Given the description of an element on the screen output the (x, y) to click on. 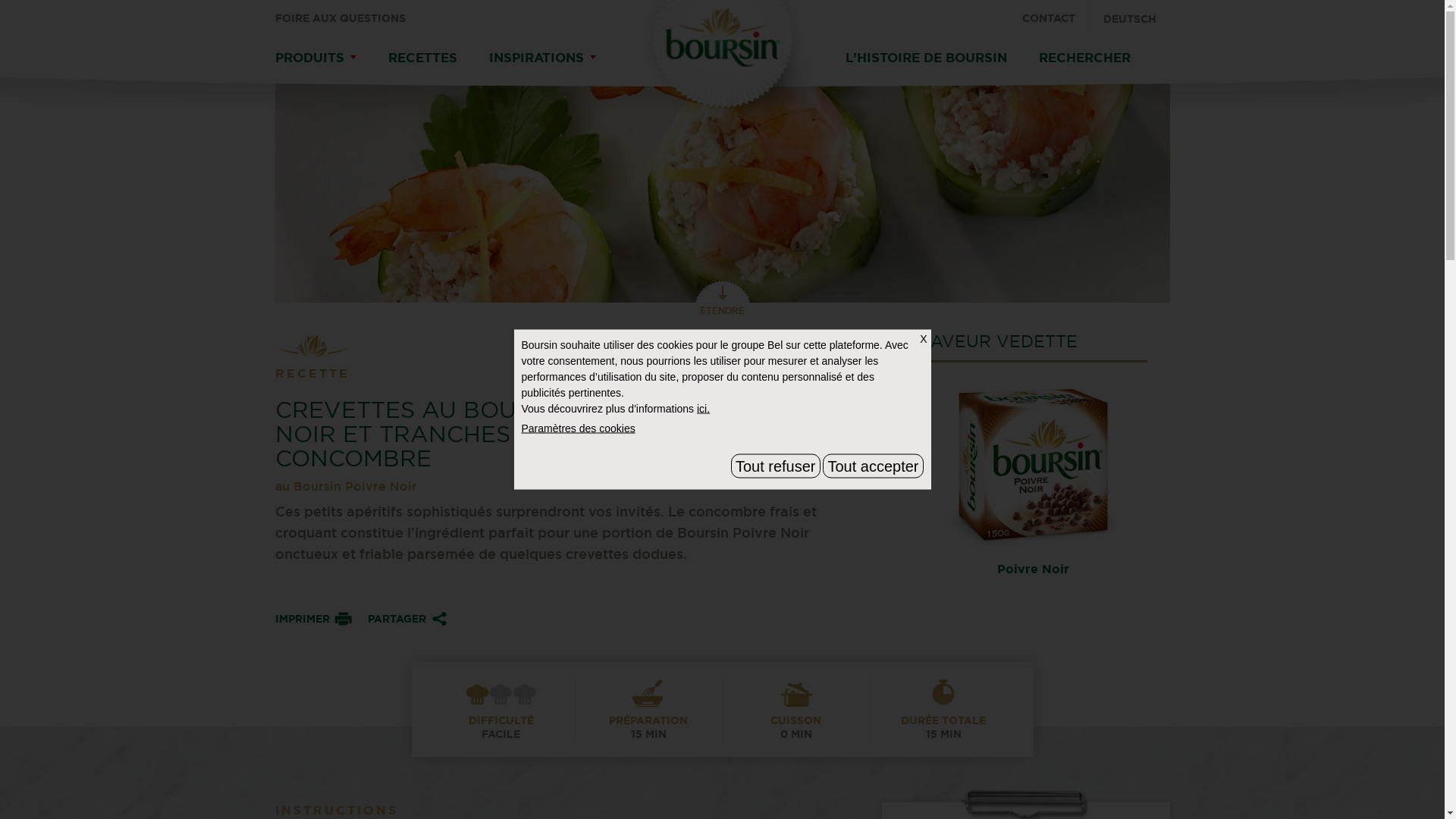
INSPIRATIONS Element type: text (541, 57)
PRODUITS Element type: text (314, 57)
FOIRE AUX QUESTIONS Element type: text (339, 14)
RECHERCHER Element type: text (1084, 57)
ici. Element type: text (702, 407)
RECETTES Element type: text (422, 57)
Poivre Noir Element type: text (1032, 477)
PARTAGER Element type: text (407, 618)
IMPRIMER Element type: text (312, 618)
CONTACT Element type: text (1055, 14)
DEUTSCH Element type: text (1128, 14)
